Given the description of an element on the screen output the (x, y) to click on. 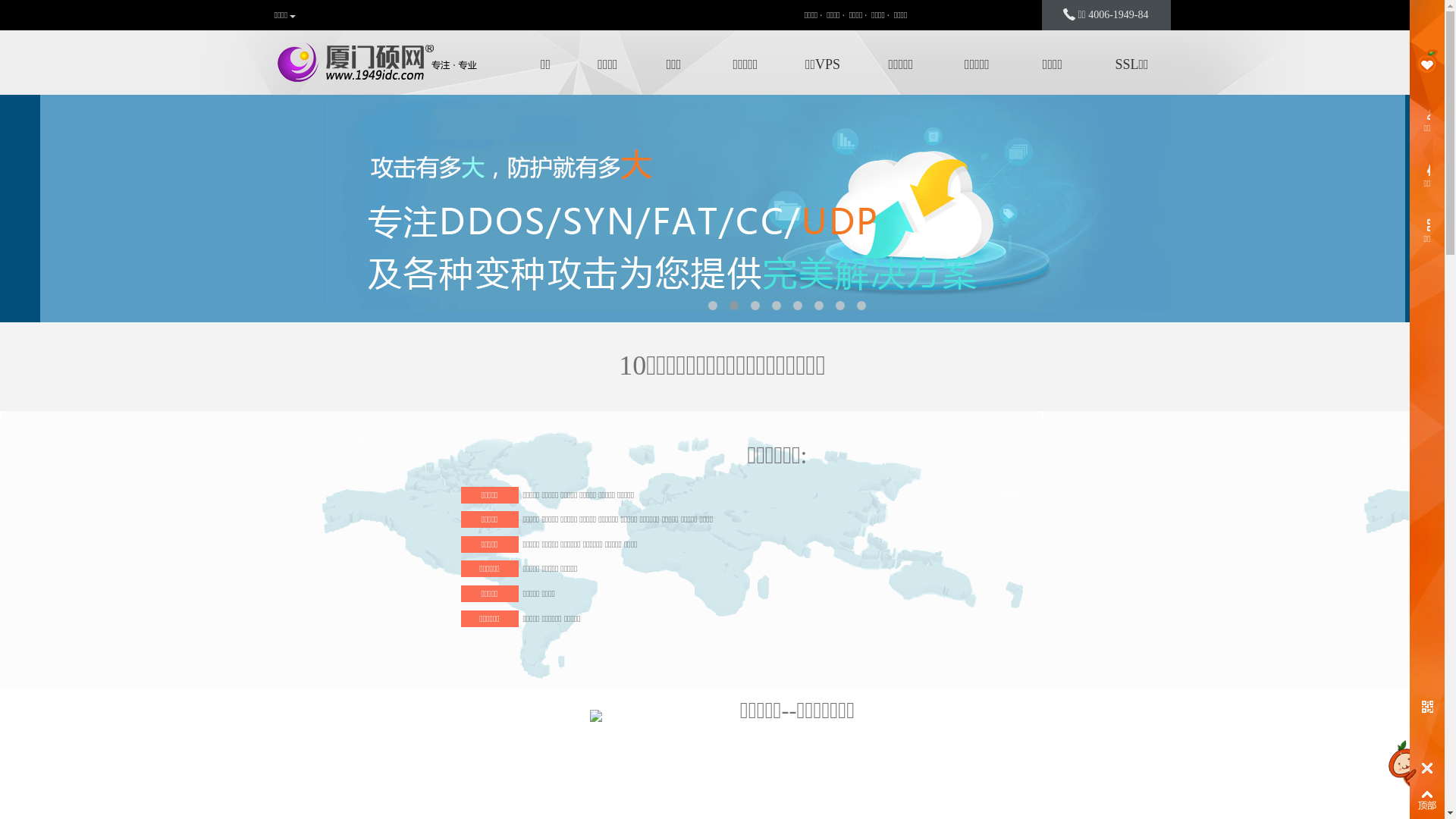
0 Element type: text (722, 208)
  Element type: text (1427, 706)
  Element type: text (1427, 767)
0 Element type: text (722, 663)
0 Element type: text (722, 435)
